Given the description of an element on the screen output the (x, y) to click on. 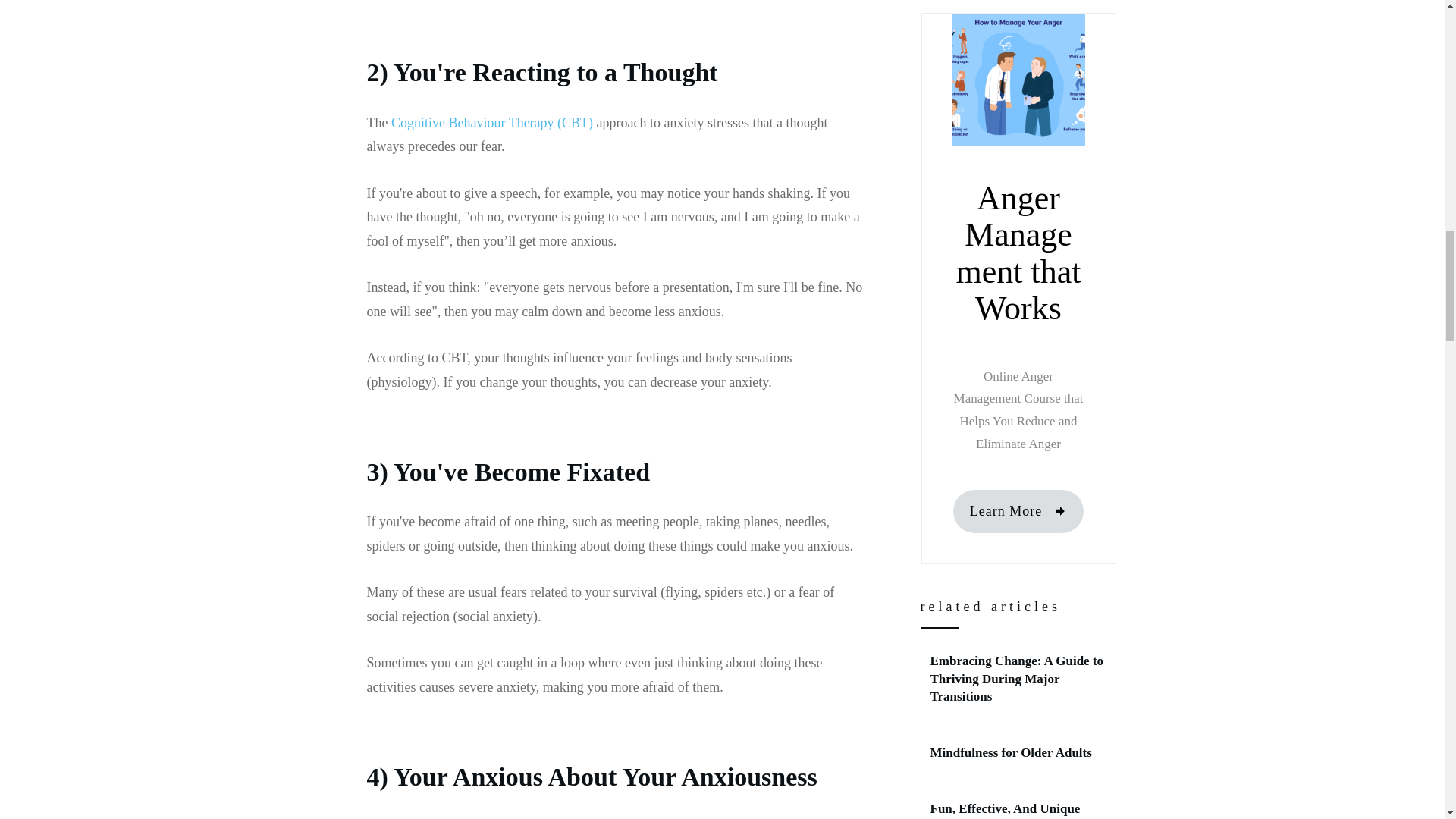
Learn More (1018, 511)
Mindfulness for Older Adults (1010, 752)
Mindfulness for Older Adults (1010, 752)
Mindfulness for Older Adults (1018, 752)
